Given the description of an element on the screen output the (x, y) to click on. 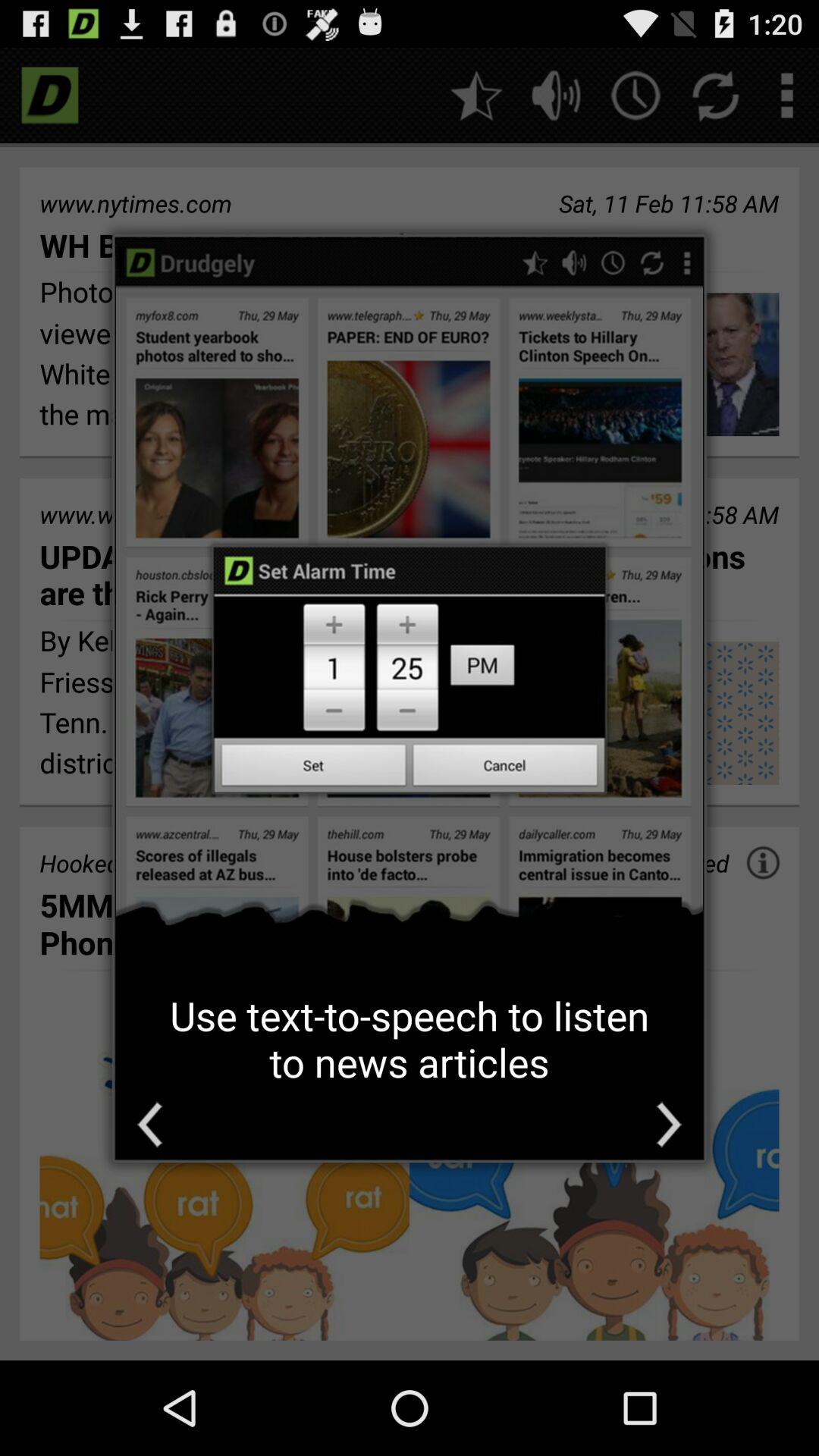
for back (149, 1124)
